Given the description of an element on the screen output the (x, y) to click on. 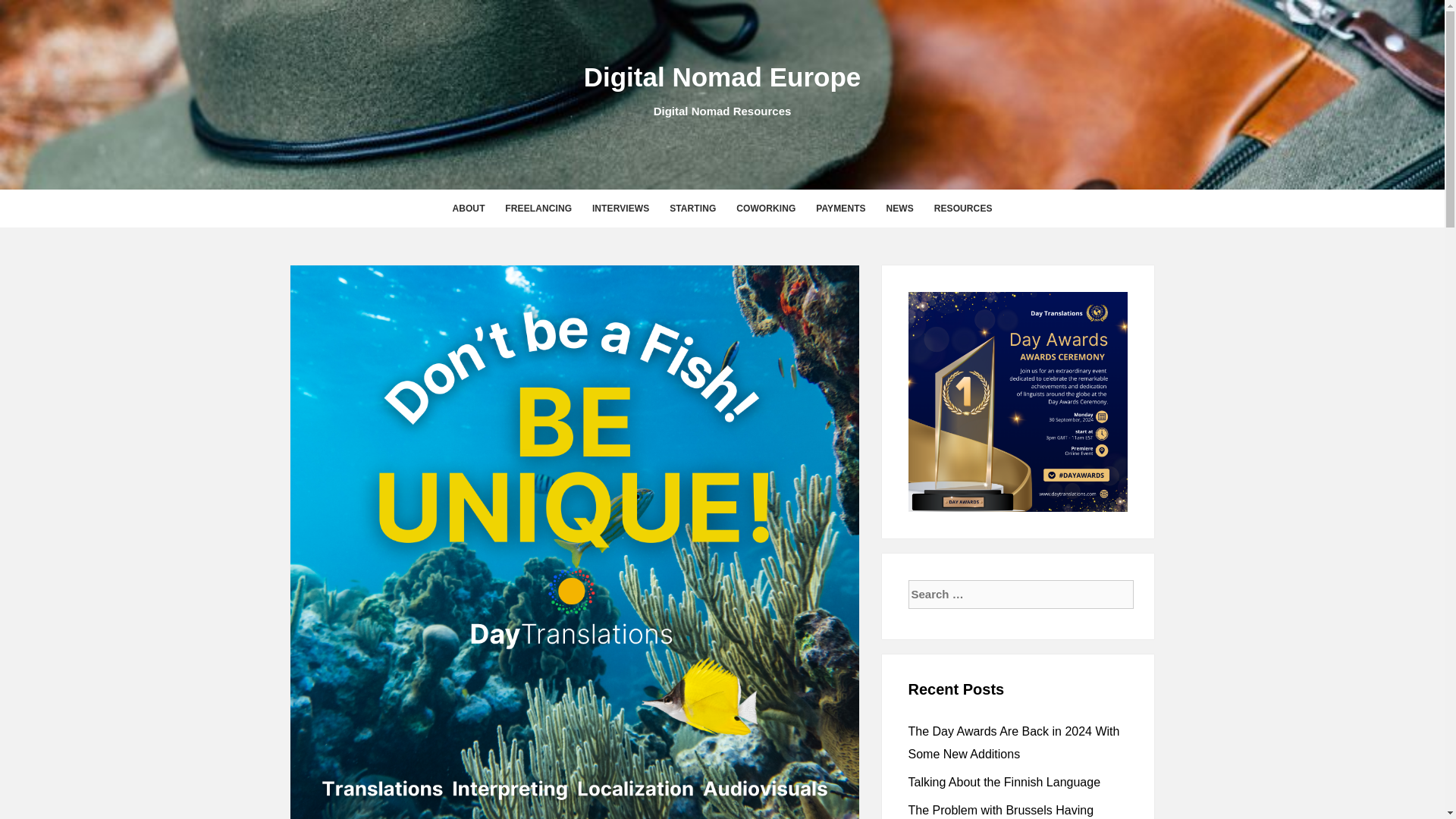
Payments (840, 208)
COWORKING (765, 208)
Digital Nomad Europe (722, 76)
ABOUT (467, 208)
FREELANCING (538, 208)
Resources (962, 208)
RESOURCES (962, 208)
PAYMENTS (840, 208)
About (467, 208)
STARTING (693, 208)
